Given the description of an element on the screen output the (x, y) to click on. 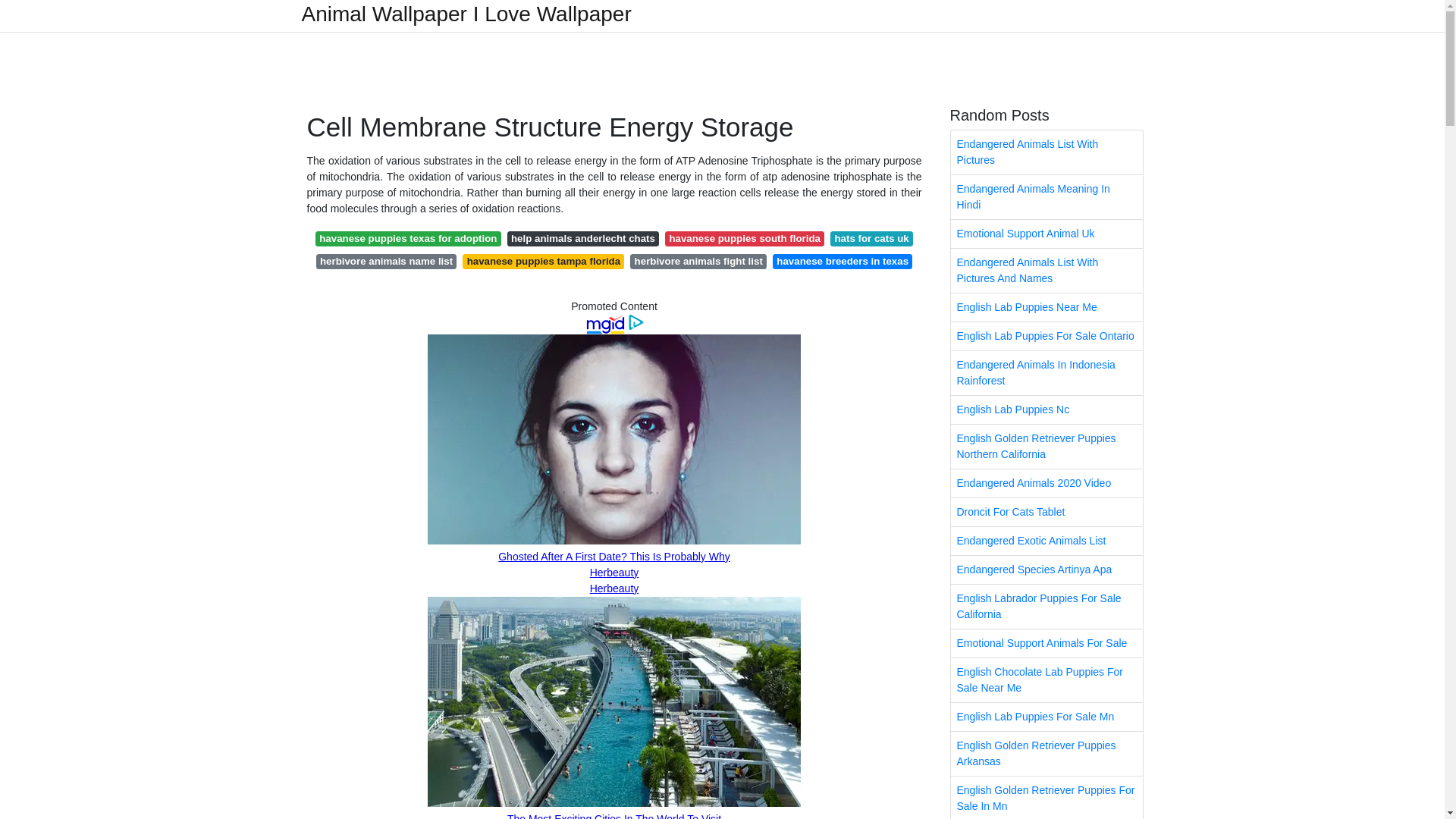
havanese puppies tampa florida (543, 261)
Endangered Animals Meaning In Hindi (1046, 197)
herbivore animals name list (386, 261)
havanese breeders in texas (842, 261)
havanese puppies texas for adoption (407, 238)
help animals anderlecht chats (582, 238)
English Lab Puppies Nc (1046, 409)
herbivore animals fight list (698, 261)
Endangered Animals List With Pictures And Names (1046, 270)
Animal Wallpaper I Love Wallpaper (466, 13)
English Lab Puppies Near Me (1046, 307)
Endangered Animals List With Pictures (1046, 152)
English Lab Puppies For Sale Ontario (1046, 336)
Animal Wallpaper I Love Wallpaper (466, 13)
Emotional Support Animal Uk (1046, 234)
